Given the description of an element on the screen output the (x, y) to click on. 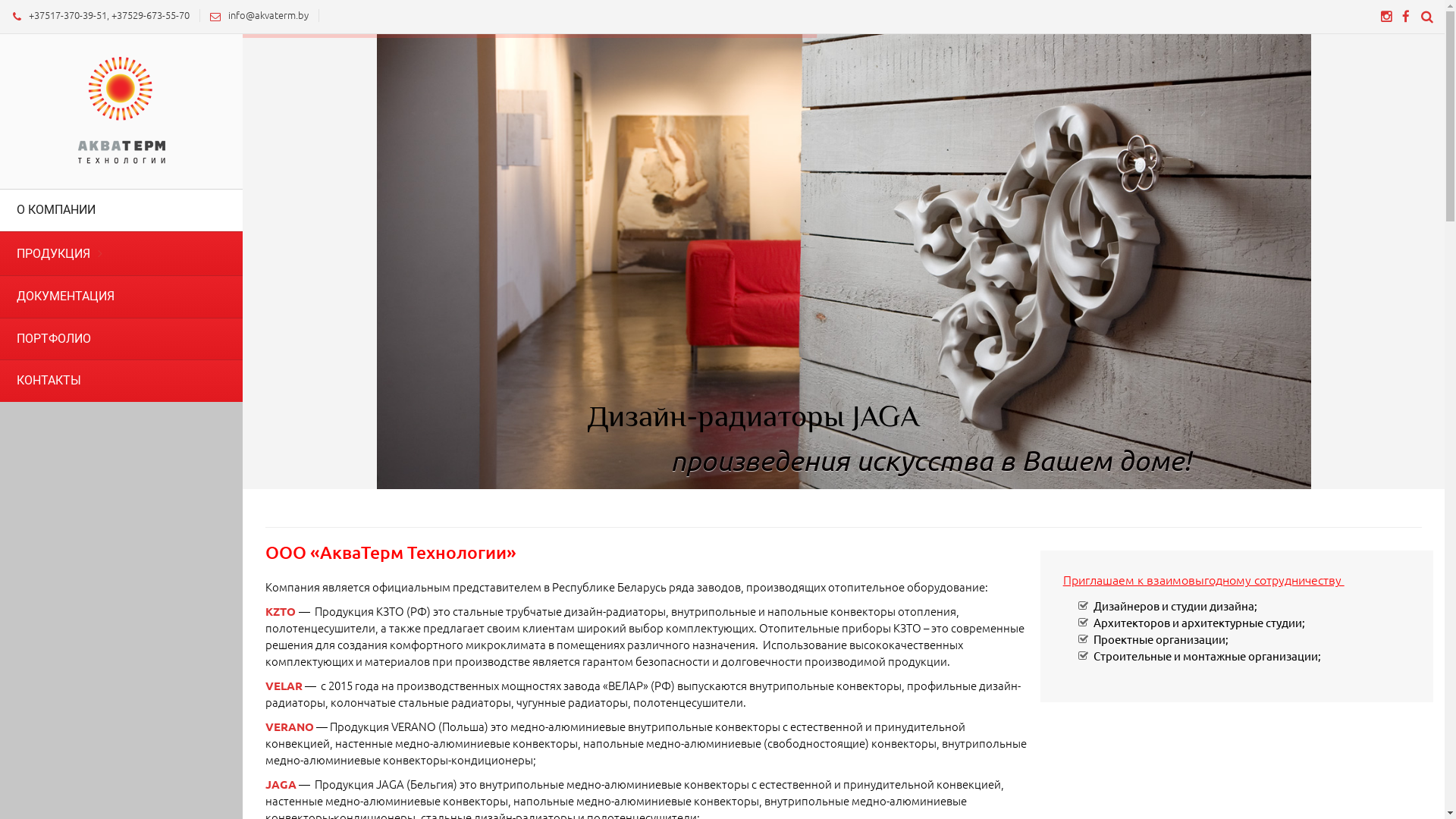
VELAR Element type: text (283, 685)
JAGA  Element type: text (281, 783)
+37517-370-39-51, +37529-673-55-70 Element type: text (97, 14)
info@akvaterm.by Element type: text (255, 14)
VERANO Element type: text (289, 726)
Search the Site Element type: hover (1427, 15)
KZTO Element type: text (281, 610)
